Given the description of an element on the screen output the (x, y) to click on. 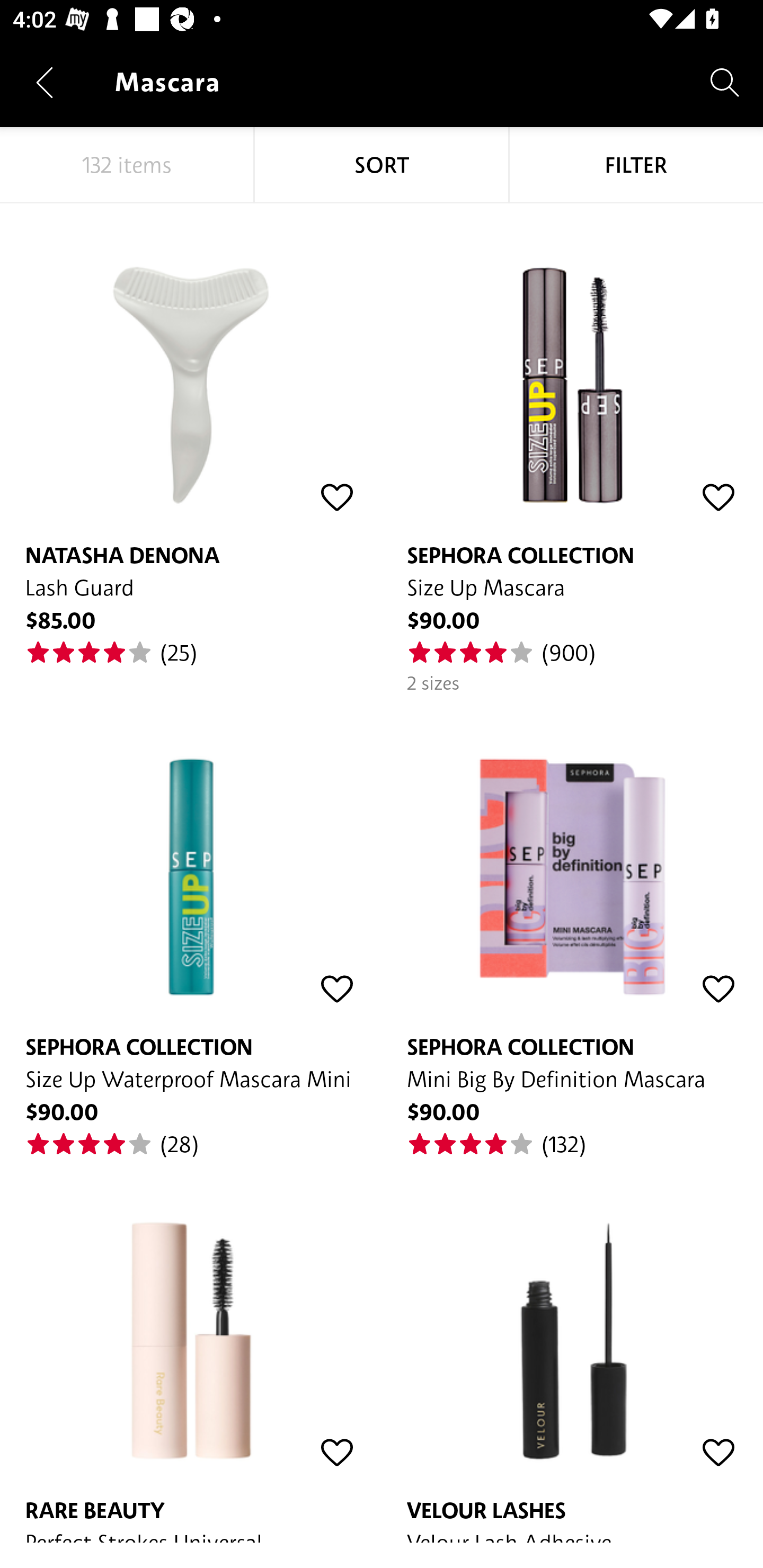
Navigate up (44, 82)
Search (724, 81)
SORT (381, 165)
FILTER (636, 165)
NATASHA DENONA Lash Guard $85.00 (25) (190, 434)
VELOUR LASHES Velour Lash Adhesive $100.00 (571, 1350)
